Given the description of an element on the screen output the (x, y) to click on. 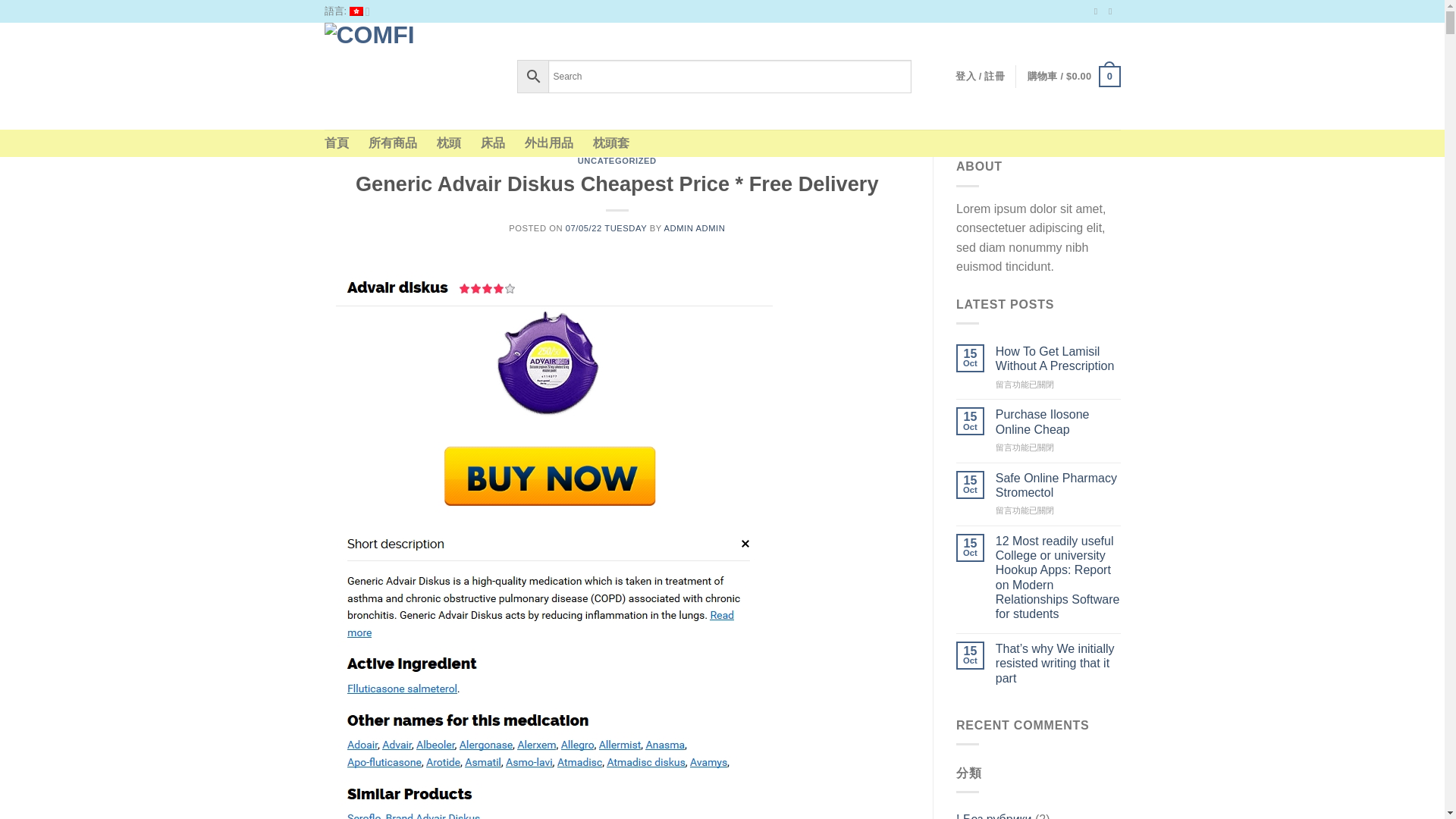
Safe Online Pharmacy Stromectol (1058, 484)
ADMIN ADMIN (694, 227)
Purchase Ilosone Online Cheap (1058, 421)
UNCATEGORIZED (617, 160)
How To Get Lamisil Without A Prescription (1058, 358)
How To Get Lamisil Without A Prescription (1058, 358)
